Given the description of an element on the screen output the (x, y) to click on. 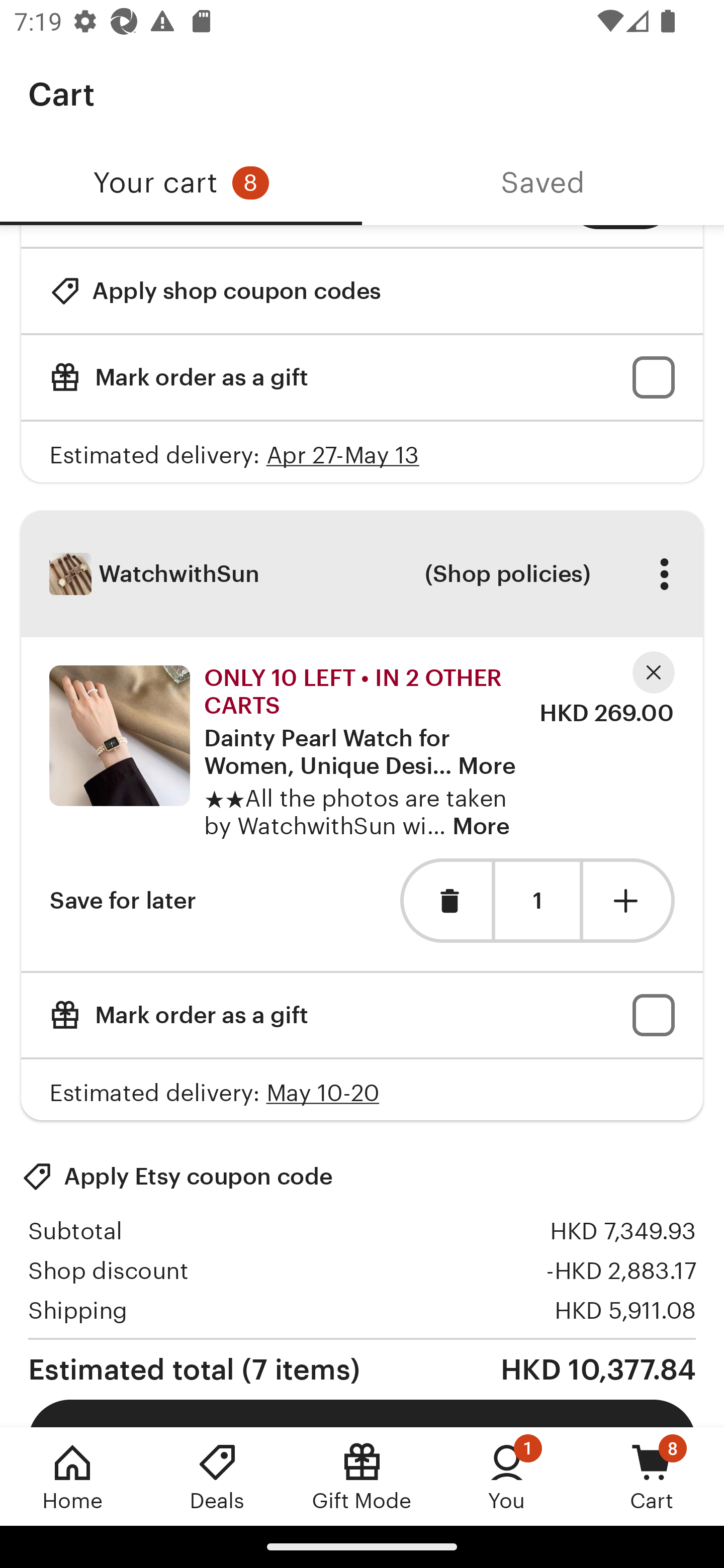
Saved, tab 2 of 2 Saved (543, 183)
Apply shop coupon codes (215, 290)
Mark order as a gift (361, 377)
WatchwithSun (Shop policies) More options (361, 573)
(Shop policies) (507, 573)
More options (663, 573)
Save for later (122, 899)
Remove item from cart (445, 899)
Add one unit to cart (628, 899)
1 (537, 901)
Mark order as a gift (361, 1014)
Apply Etsy coupon code (177, 1175)
Home (72, 1475)
Deals (216, 1475)
Gift Mode (361, 1475)
You, 1 new notification You (506, 1475)
